Given the description of an element on the screen output the (x, y) to click on. 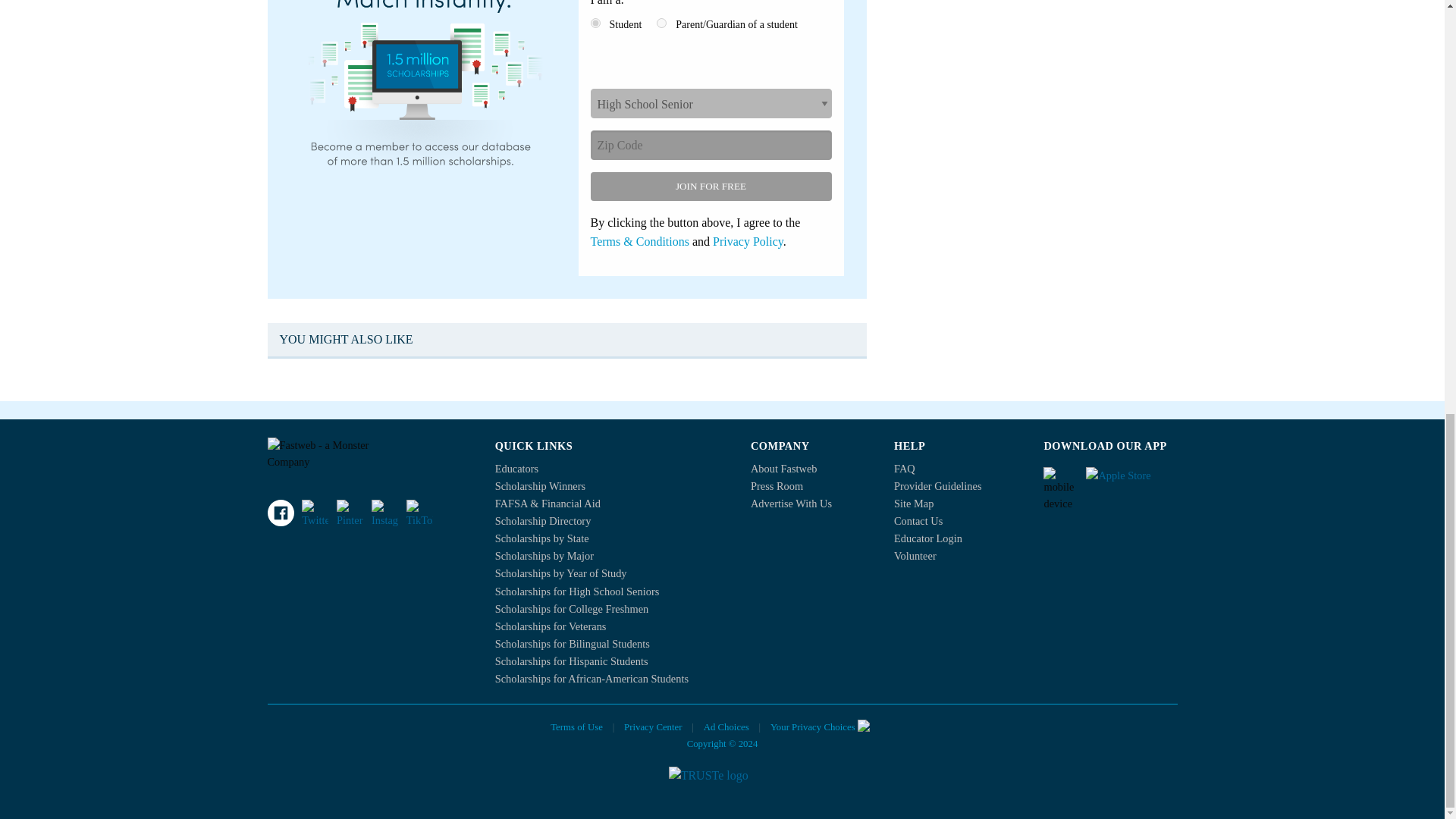
Fastweb on Instagram (384, 512)
Fastweb on TikTok (419, 512)
Fastweb on Pinterest (349, 512)
1 (594, 22)
2 (661, 22)
Fastweb on IOS (1131, 480)
Join for free (710, 185)
Fastweb on Facebook (280, 512)
